Given the description of an element on the screen output the (x, y) to click on. 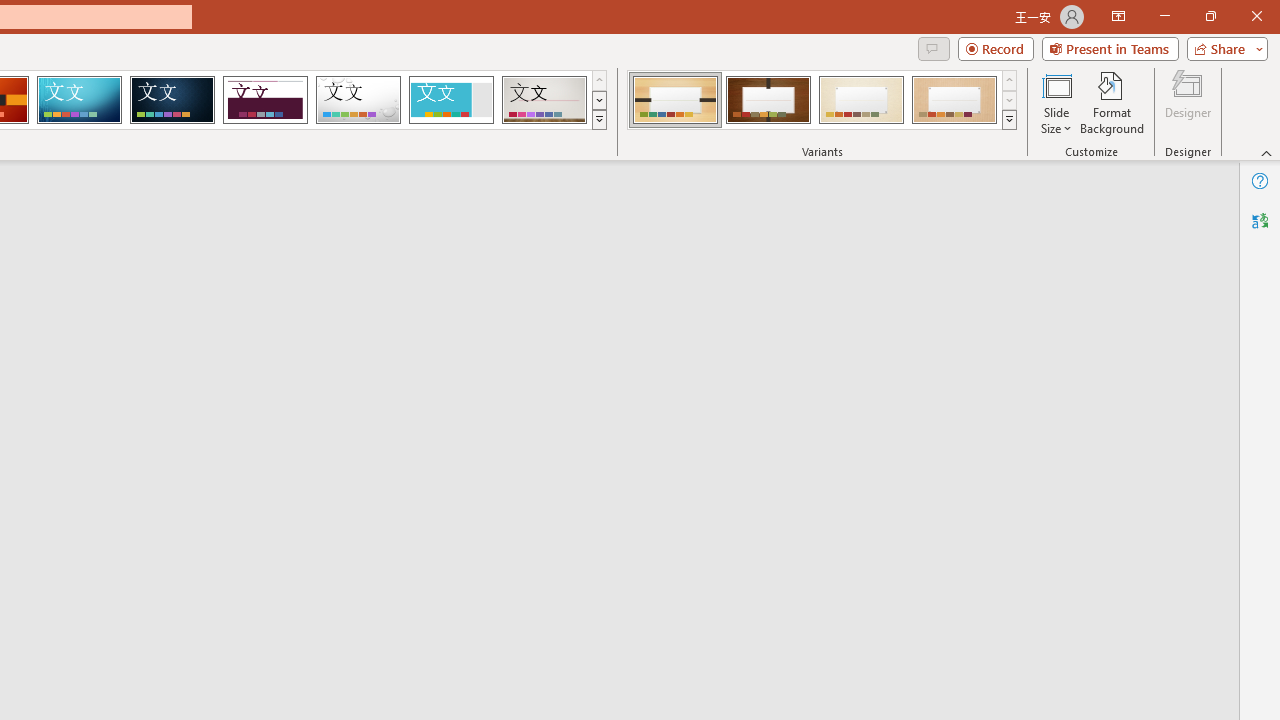
AutomationID: ThemeVariantsGallery (822, 99)
